Given the description of an element on the screen output the (x, y) to click on. 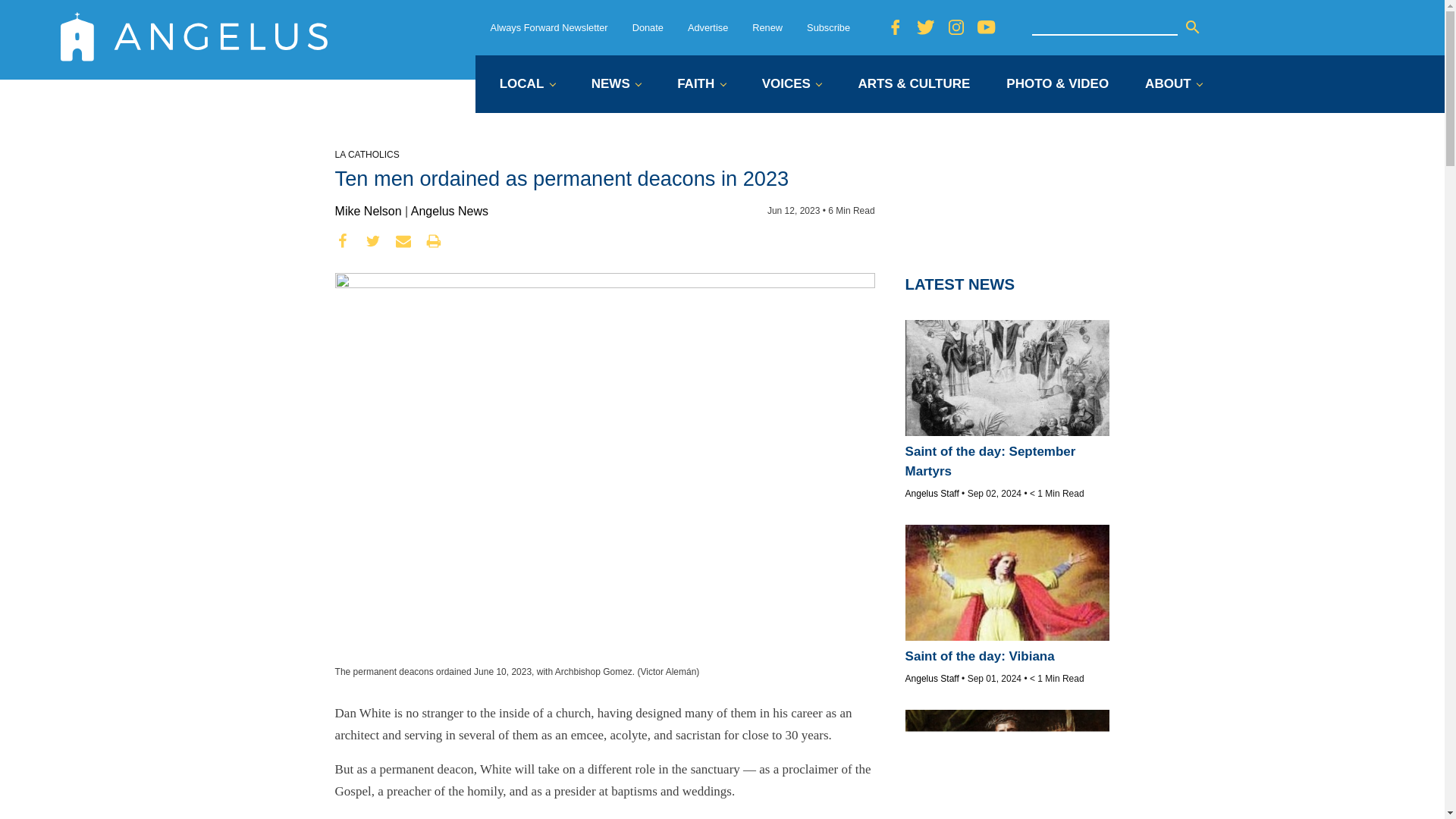
envelope (403, 240)
Always Forward Newsletter (549, 27)
FAITH (701, 84)
Posts by Mike Nelson (367, 210)
LOCAL (526, 84)
Posts by Angelus Staff (932, 678)
NEWS (615, 84)
Search (1192, 27)
Donate (647, 27)
print (433, 240)
